Given the description of an element on the screen output the (x, y) to click on. 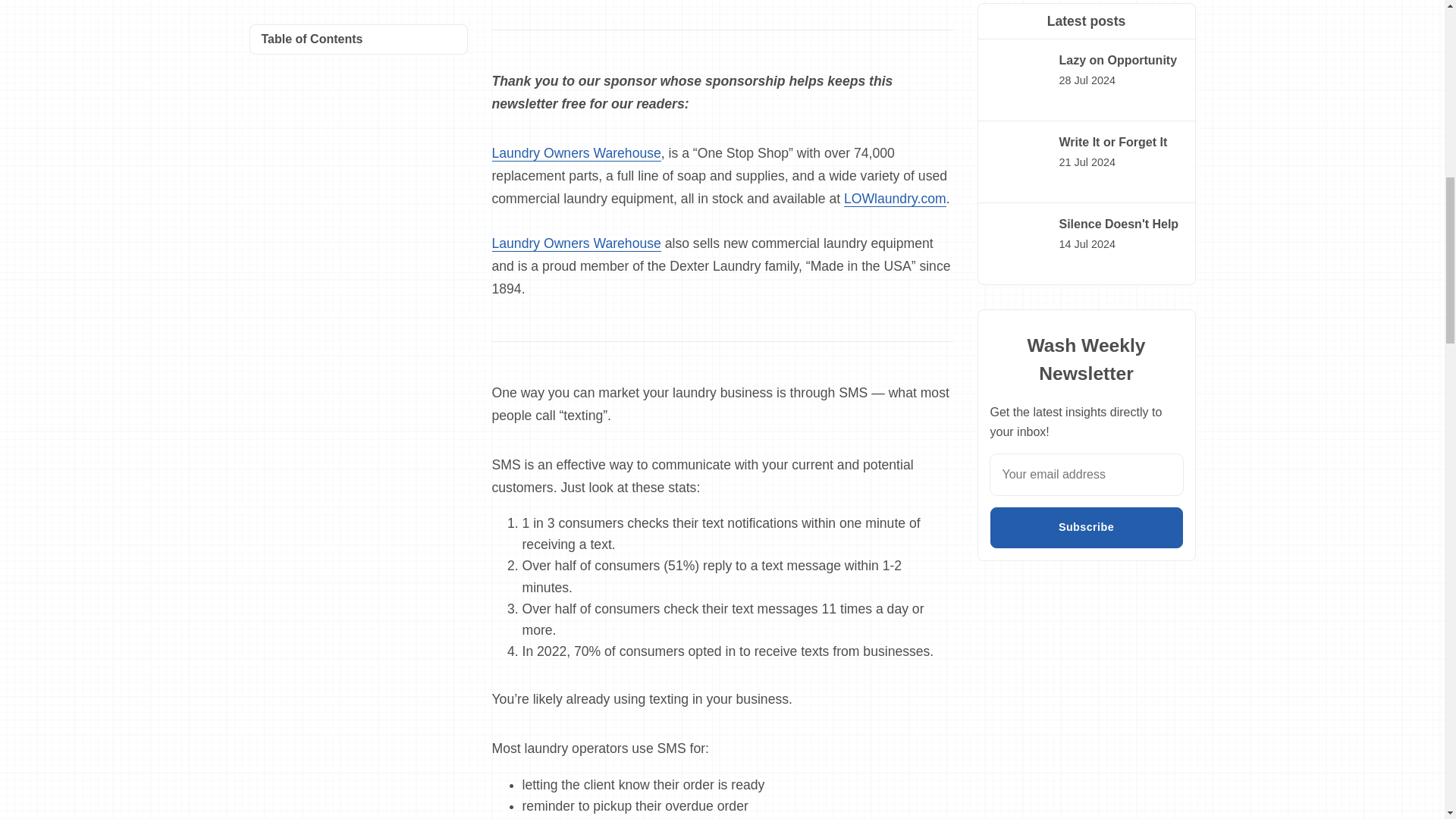
Laundry Owners Warehouse (576, 243)
Laundry Owners Warehouse (576, 153)
LOWlaundry.com (895, 198)
